Given the description of an element on the screen output the (x, y) to click on. 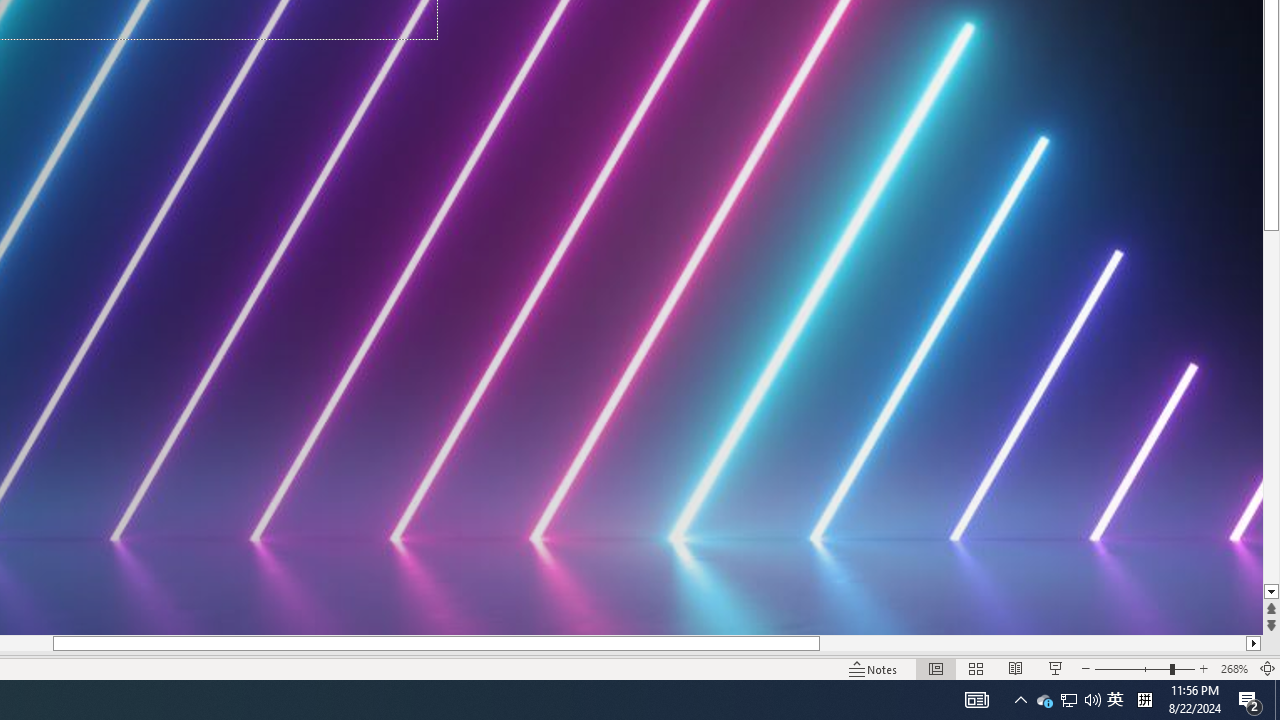
Zoom 268% (1234, 668)
